Given the description of an element on the screen output the (x, y) to click on. 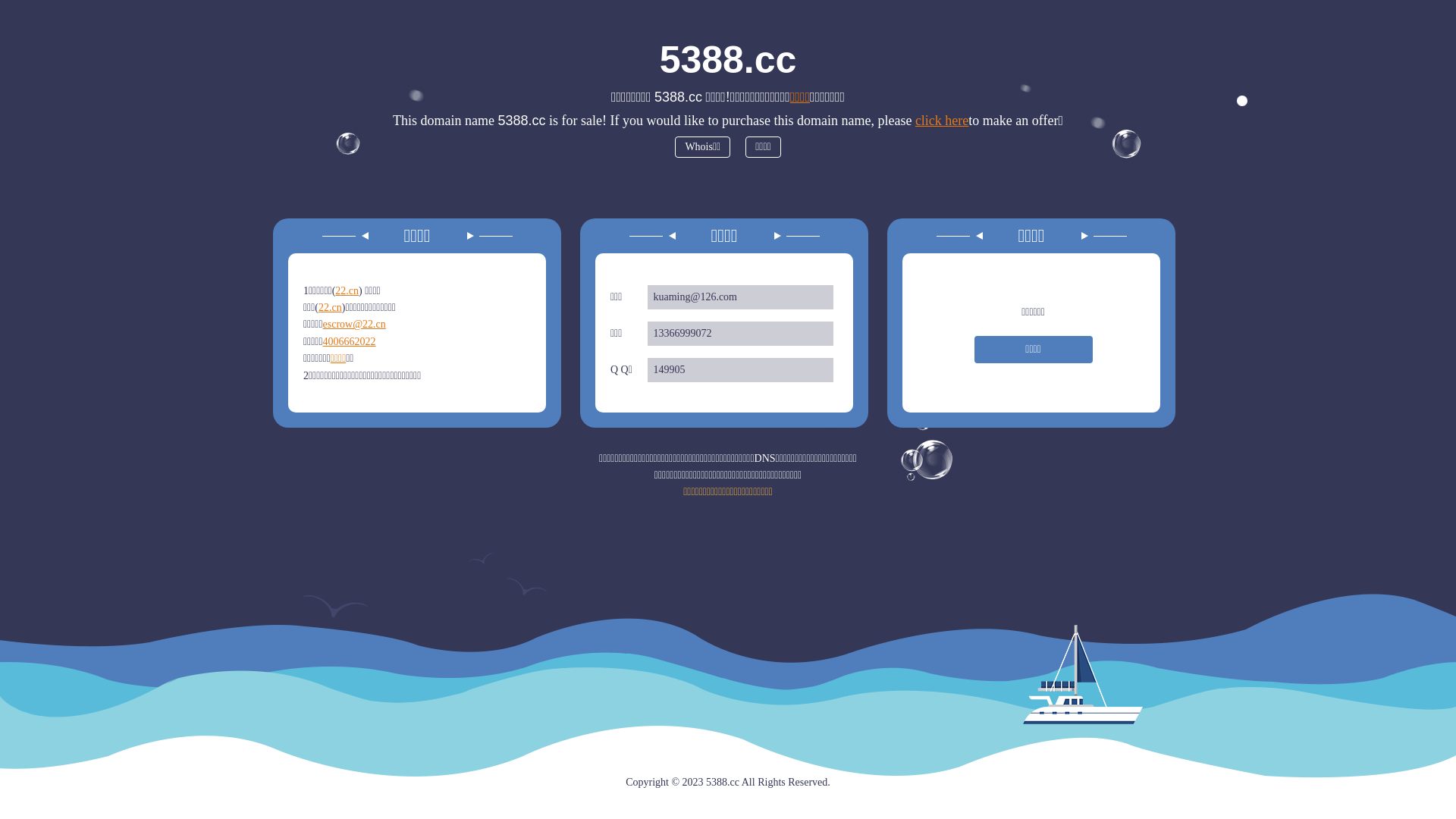
escrow@22.cn Element type: text (354, 323)
22.cn Element type: text (330, 307)
22.cn Element type: text (346, 290)
click here Element type: text (941, 120)
4006662022 Element type: text (349, 341)
